Given the description of an element on the screen output the (x, y) to click on. 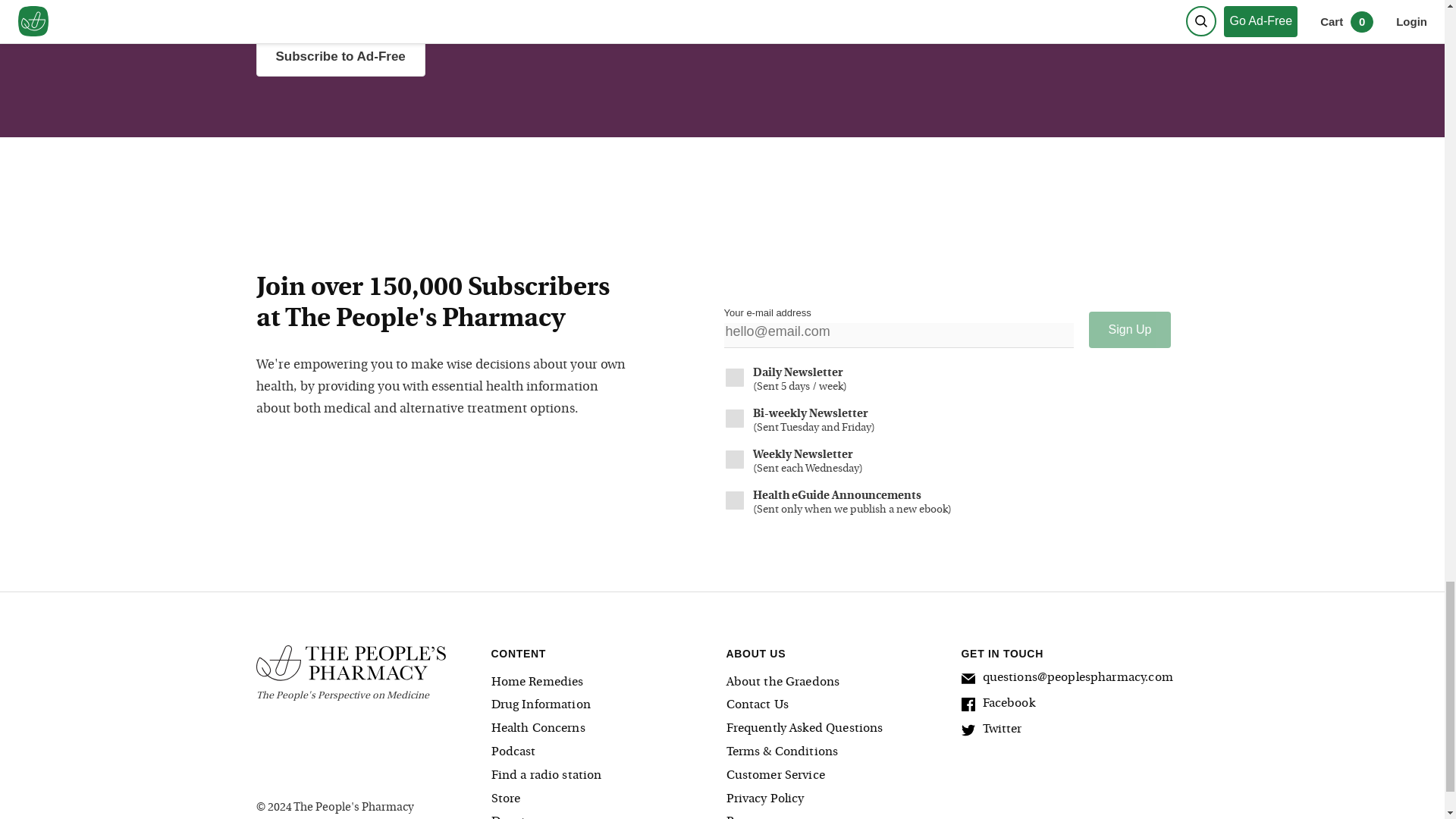
Subscribe to Ad-Free (481, 56)
Contact Us (839, 705)
About the Graedons (839, 681)
Find a radio station (605, 775)
Podcast (605, 752)
Subscribe to Ad-Free (340, 56)
Drug Information (605, 705)
Home Remedies (605, 681)
Sign Up (1130, 330)
Store (605, 798)
Health Concerns (605, 729)
